Given the description of an element on the screen output the (x, y) to click on. 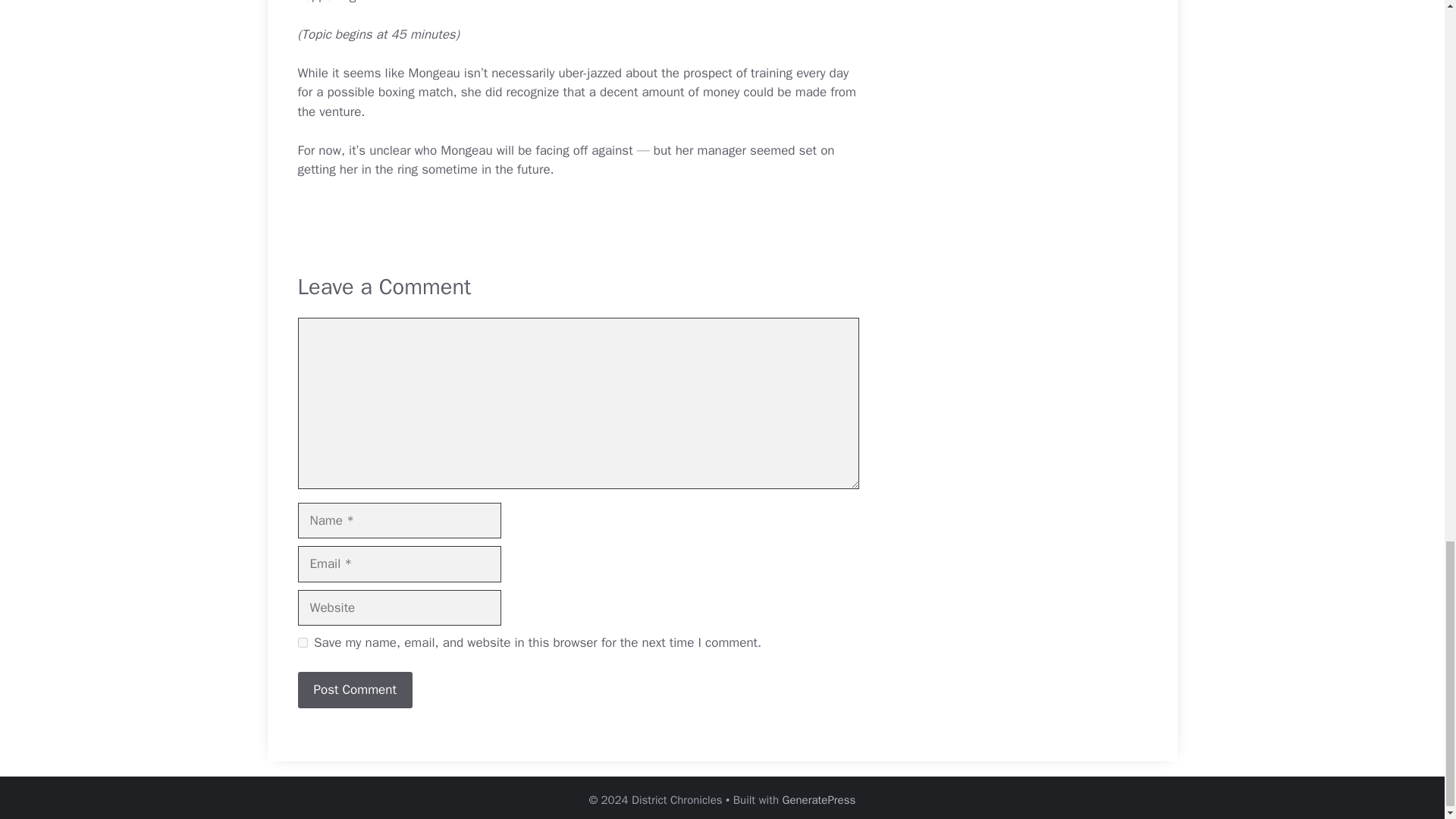
Post Comment (354, 689)
yes (302, 642)
GeneratePress (819, 799)
Post Comment (354, 689)
